Given the description of an element on the screen output the (x, y) to click on. 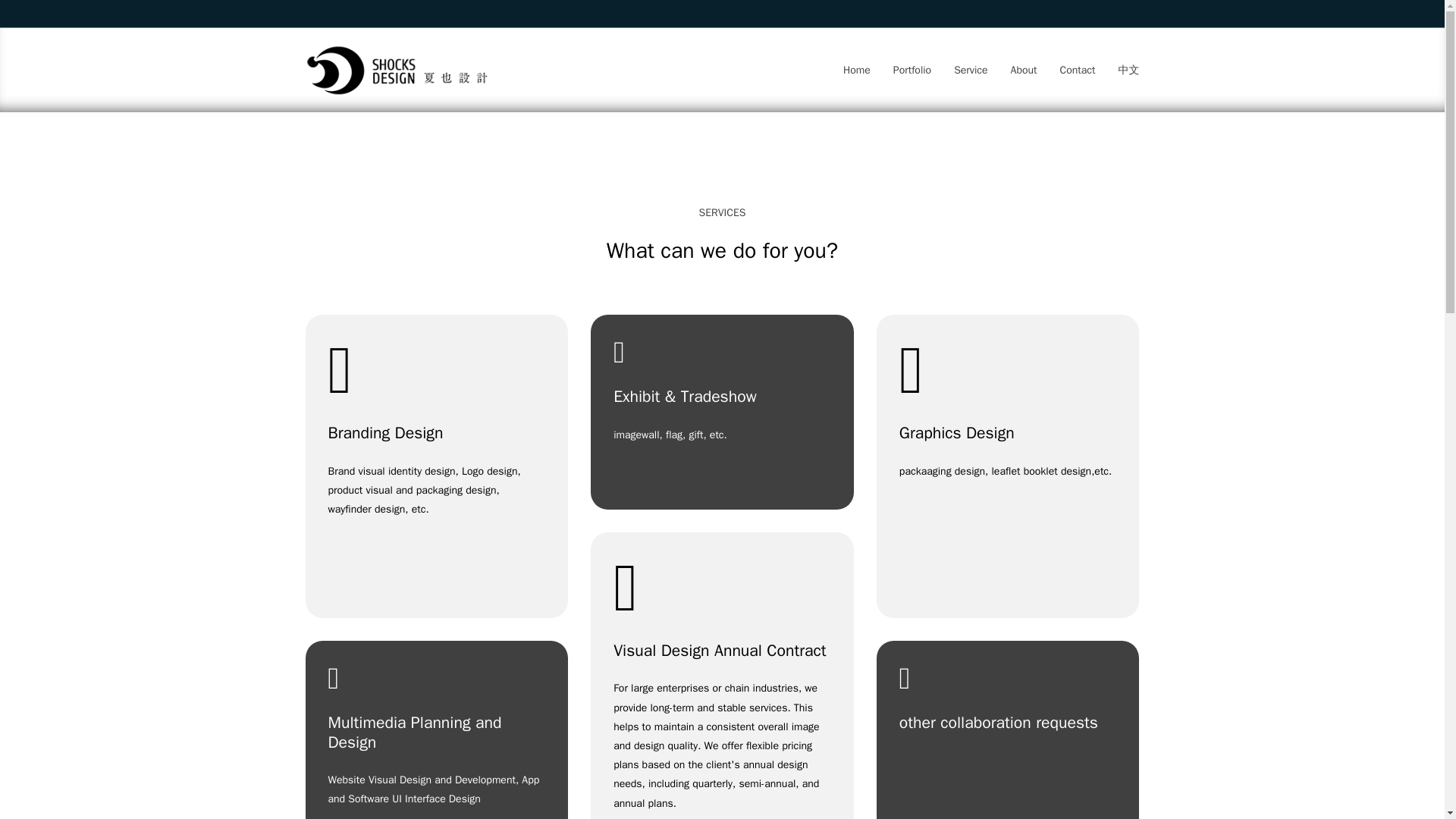
Home (856, 69)
Service (970, 69)
Contact (1077, 69)
Portfolio (912, 69)
About (1023, 69)
